Given the description of an element on the screen output the (x, y) to click on. 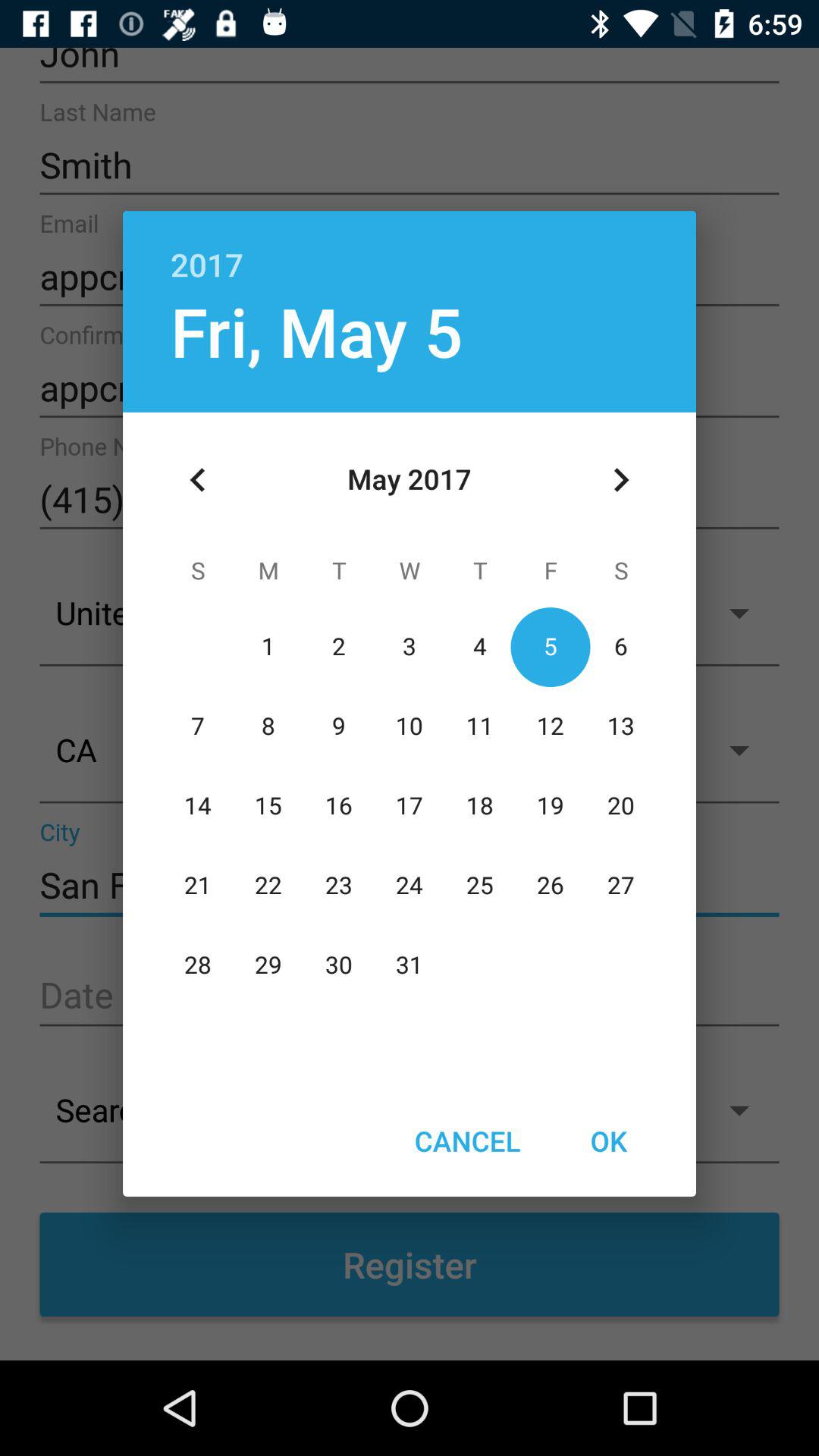
select item at the top left corner (197, 479)
